Given the description of an element on the screen output the (x, y) to click on. 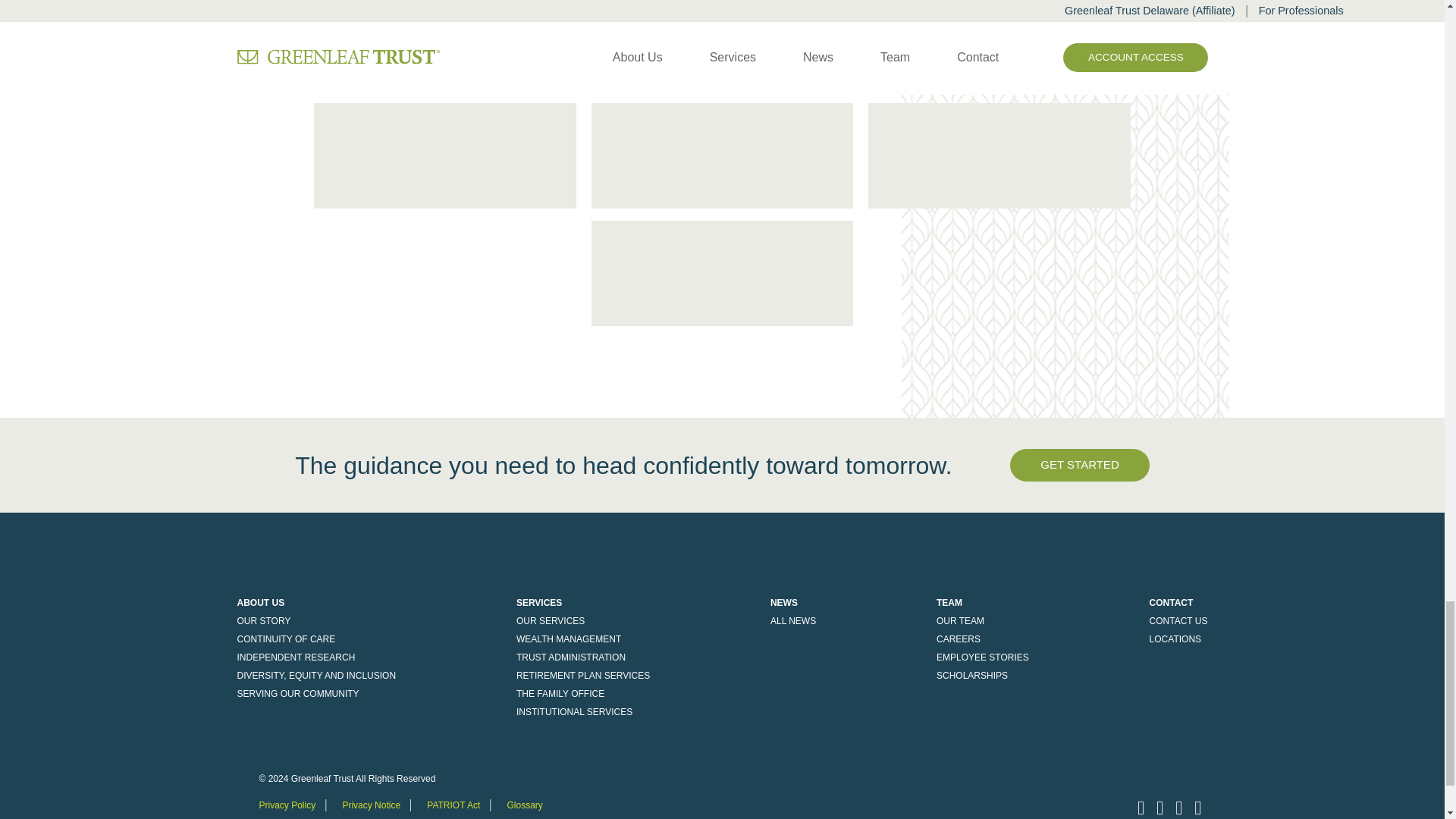
Visit Forbes Website (999, 44)
Visit Yahoo Finance Website (999, 155)
Visit MSN Website (445, 155)
Visit Bloomberg Website (721, 272)
Visit USA Today Website (445, 44)
Visit Barron's Website (721, 44)
